Given the description of an element on the screen output the (x, y) to click on. 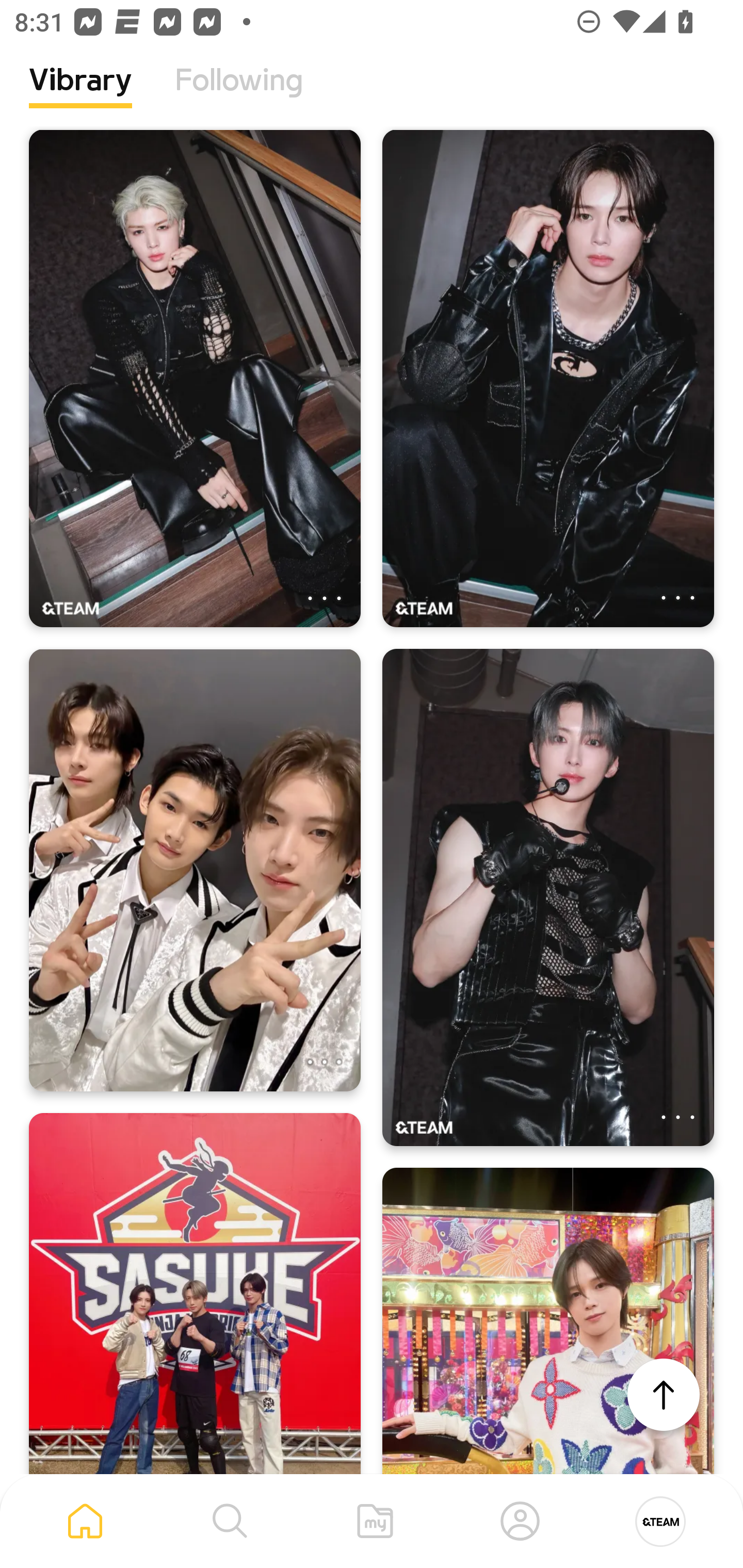
Vibrary (80, 95)
Following (239, 95)
